Given the description of an element on the screen output the (x, y) to click on. 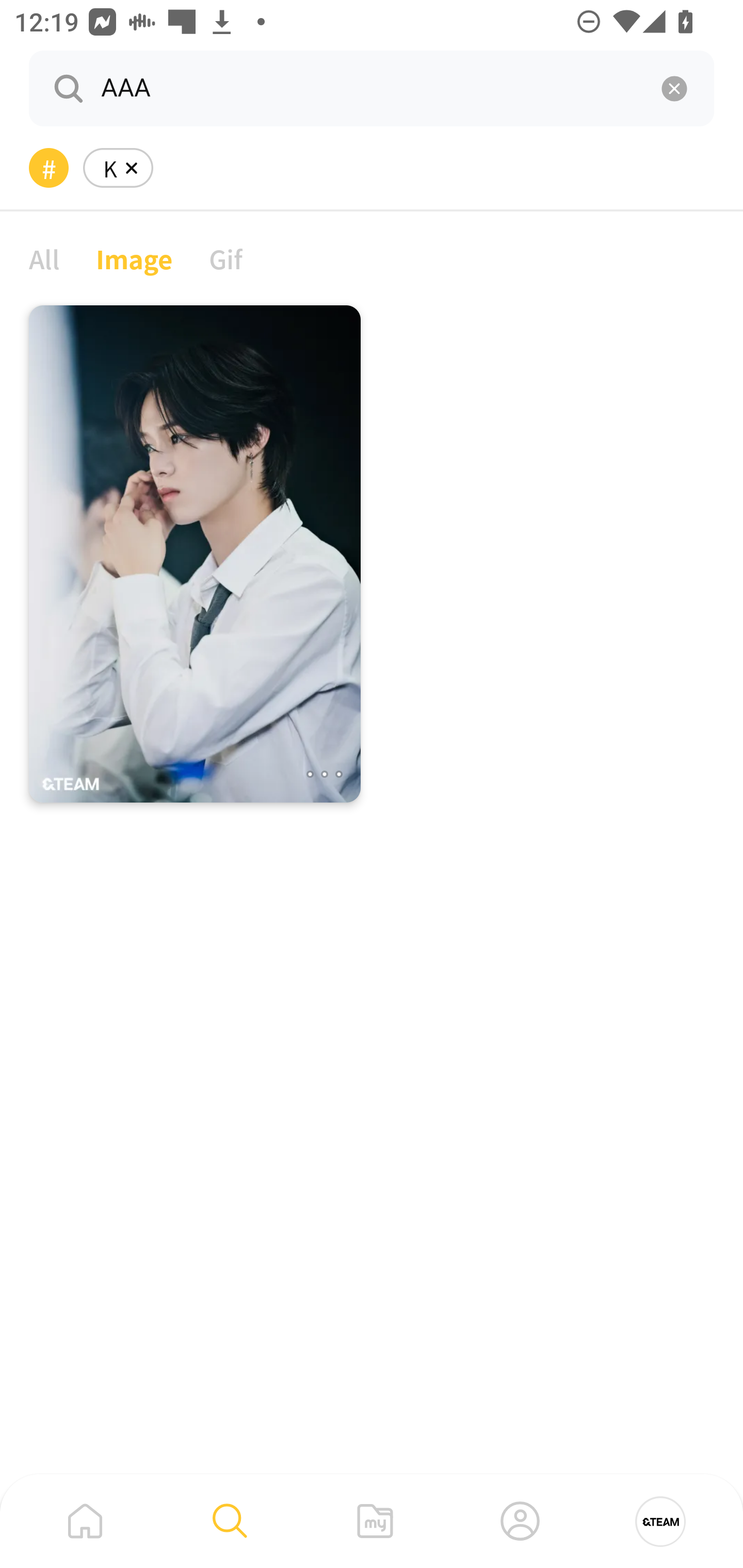
All (44, 257)
Image (134, 257)
Gif (225, 257)
